Given the description of an element on the screen output the (x, y) to click on. 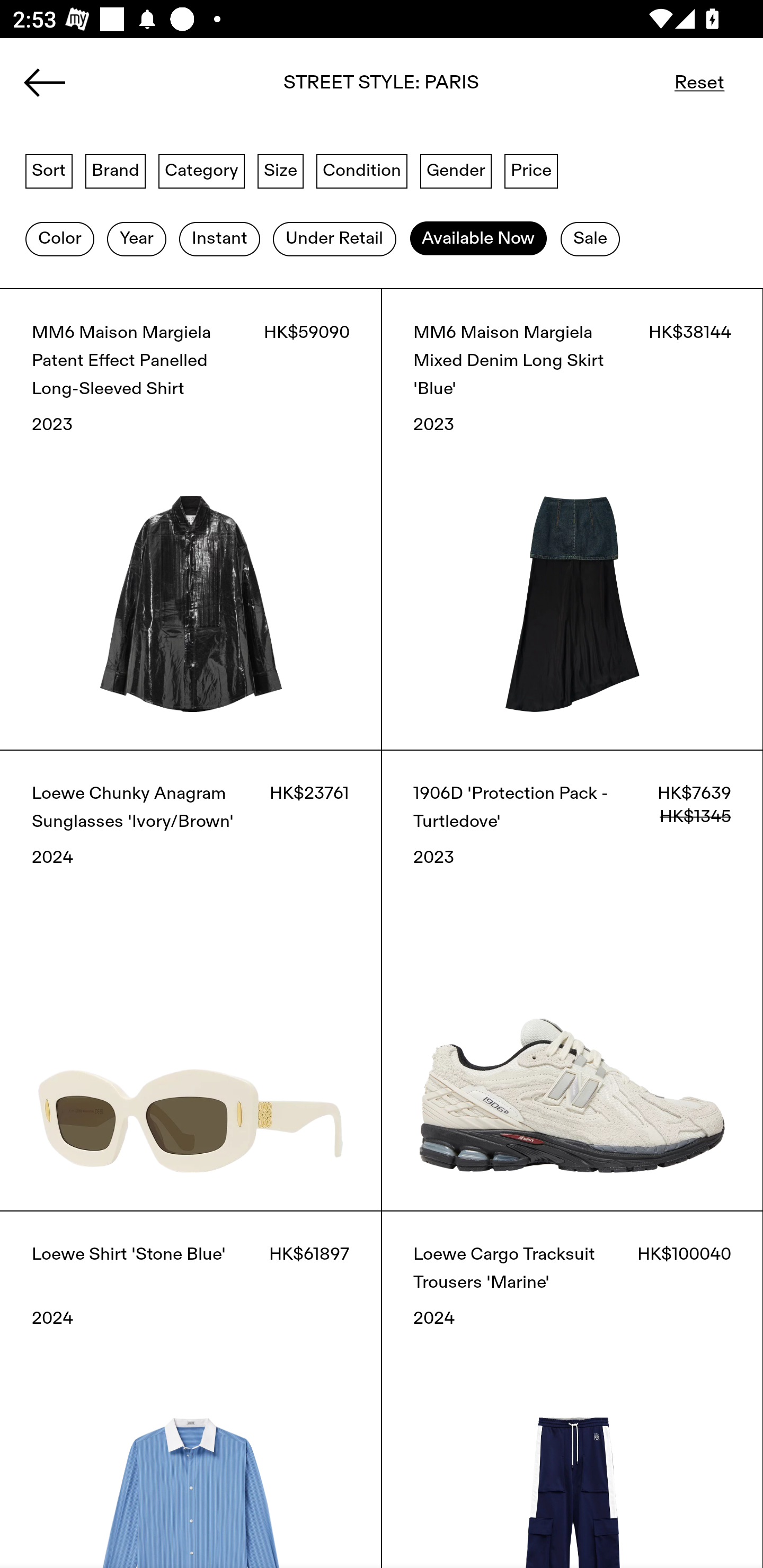
Reset (699, 82)
shirt (381, 88)
Sort (48, 170)
Brand (115, 170)
Category (201, 170)
Size (280, 170)
Condition (361, 170)
Gender (455, 170)
Price (530, 170)
Color (59, 239)
Year (136, 239)
Instant (219, 239)
Under Retail (334, 239)
Available Now (477, 239)
Sale (589, 239)
Loewe Shirt 'Stone Blue' HK$61897 2024 (190, 1389)
